Given the description of an element on the screen output the (x, y) to click on. 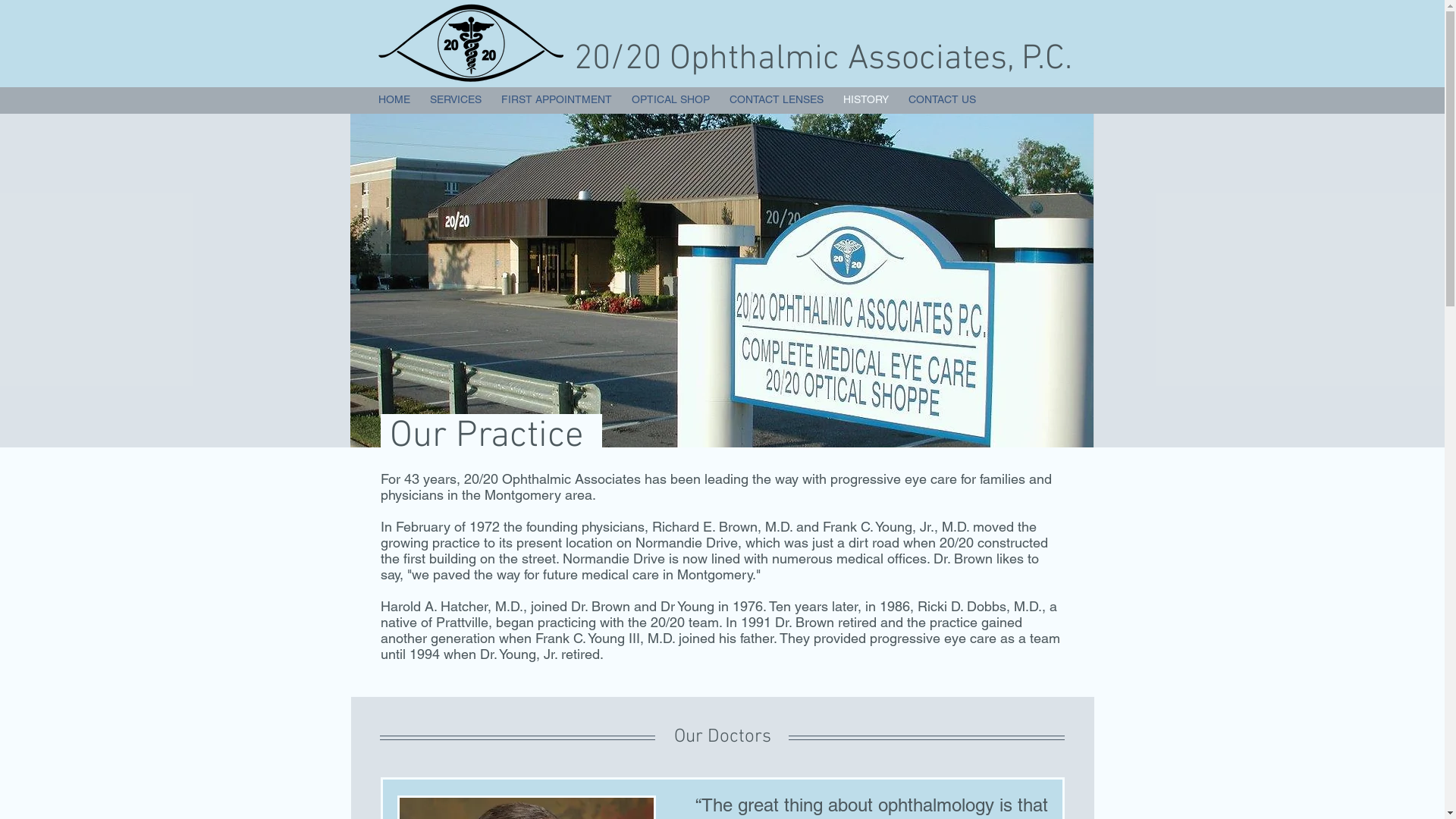
CONTACT US Element type: text (941, 98)
FIRST APPOINTMENT Element type: text (556, 98)
CONTACT LENSES Element type: text (775, 98)
HISTORY Element type: text (864, 98)
HOME Element type: text (394, 98)
SERVICES Element type: text (455, 98)
OPTICAL SHOP Element type: text (670, 98)
Edited Image 2015-5-7-20:19:58 Element type: hover (470, 42)
